Given the description of an element on the screen output the (x, y) to click on. 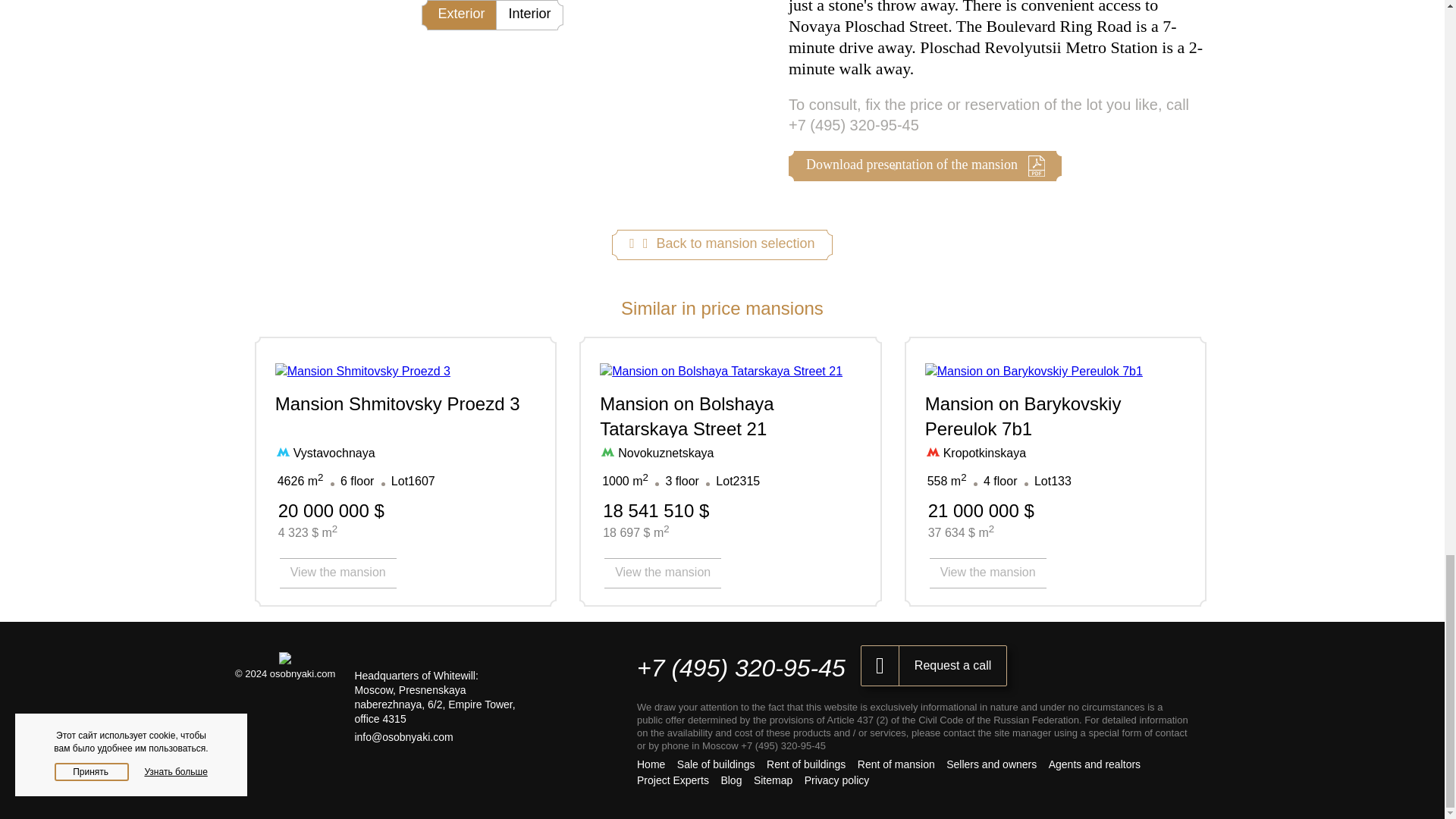
Home (651, 764)
Rent of buildings (806, 764)
Privacy policy (837, 779)
Rent of mansion (895, 764)
Sale of buildings (716, 764)
